Given the description of an element on the screen output the (x, y) to click on. 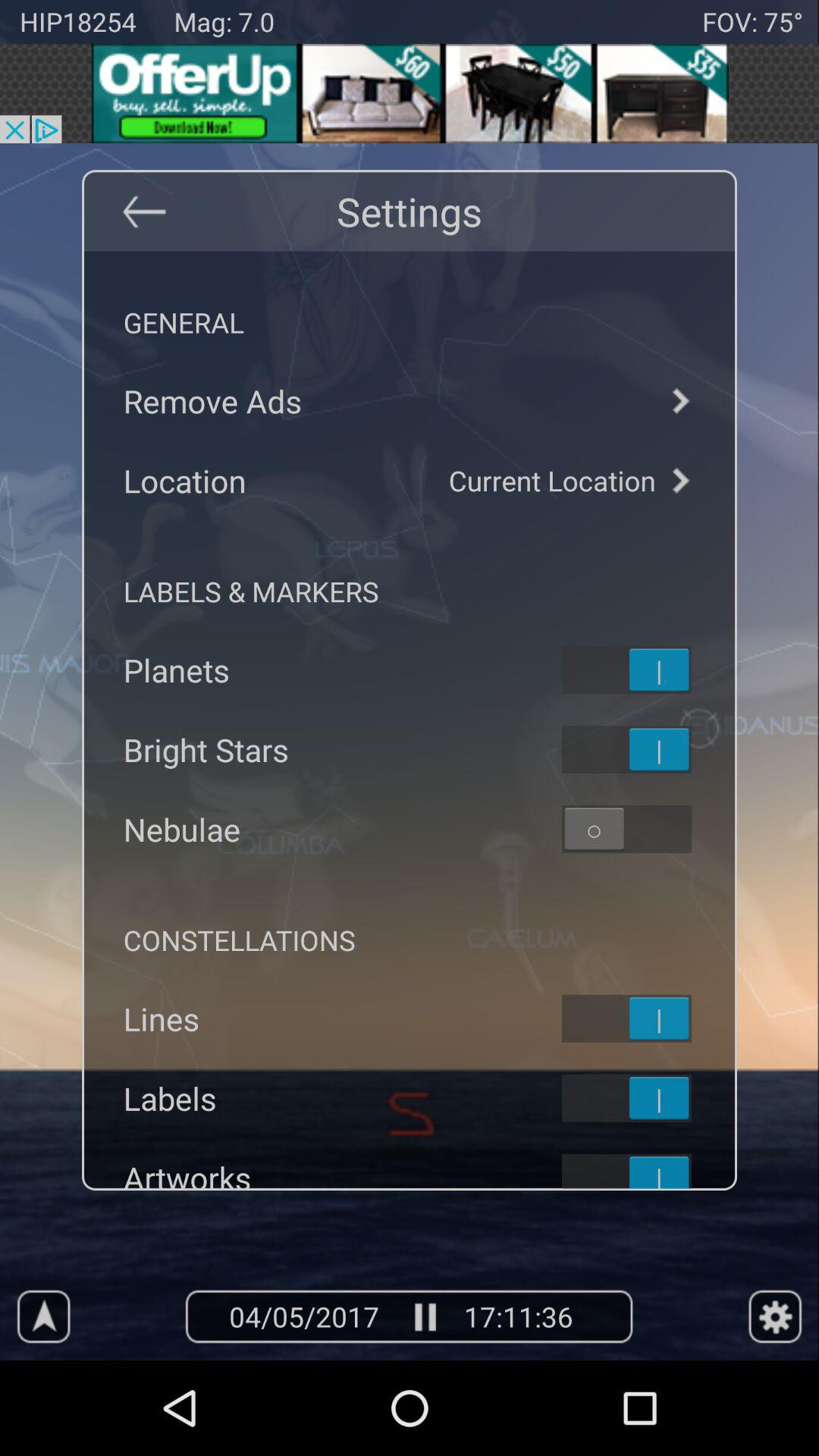
on-off (646, 1098)
